Given the description of an element on the screen output the (x, y) to click on. 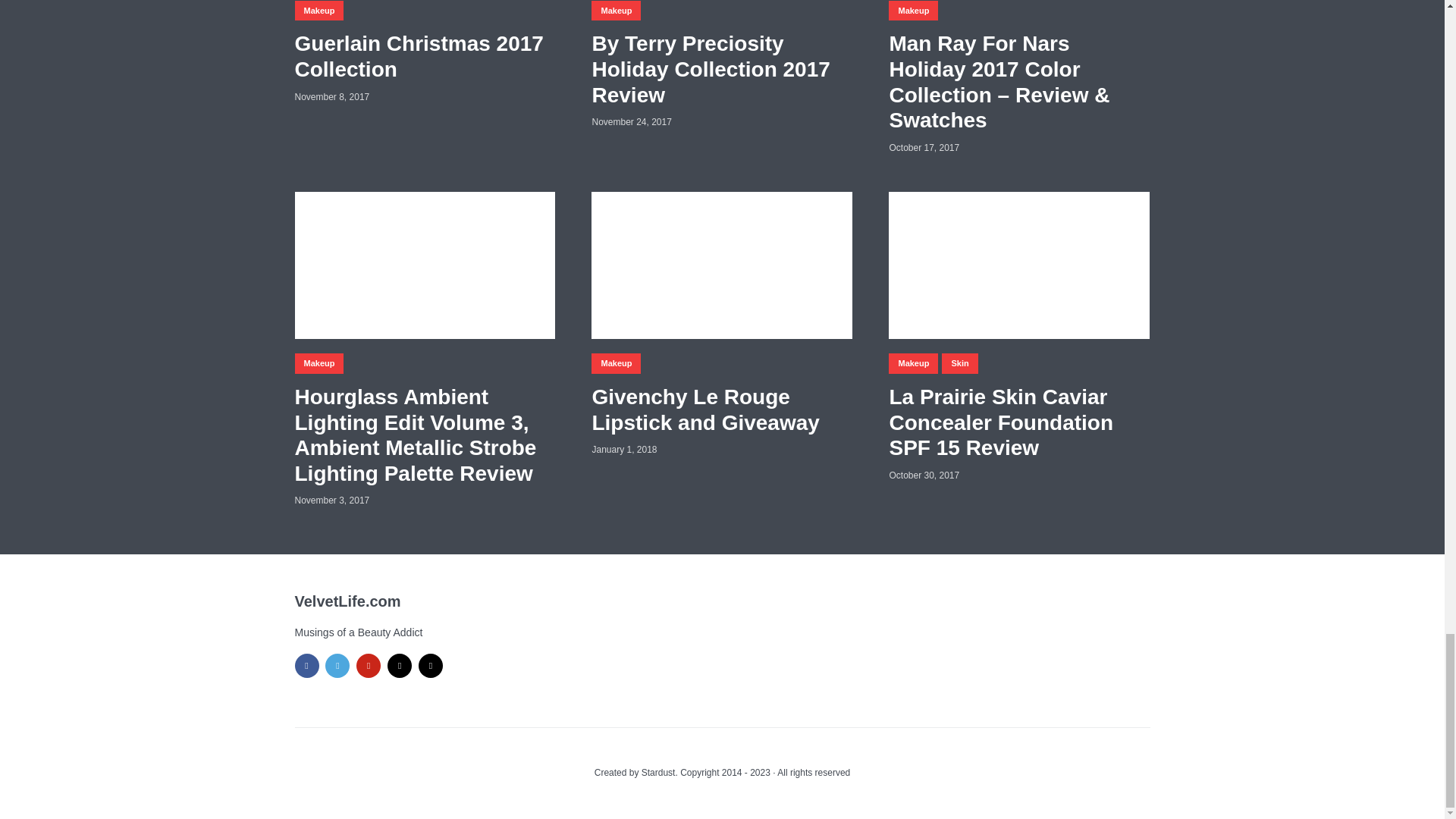
BLOGLOVIN' (399, 665)
Pinterest (368, 665)
Facebook (306, 665)
Instagram (430, 665)
